Given the description of an element on the screen output the (x, y) to click on. 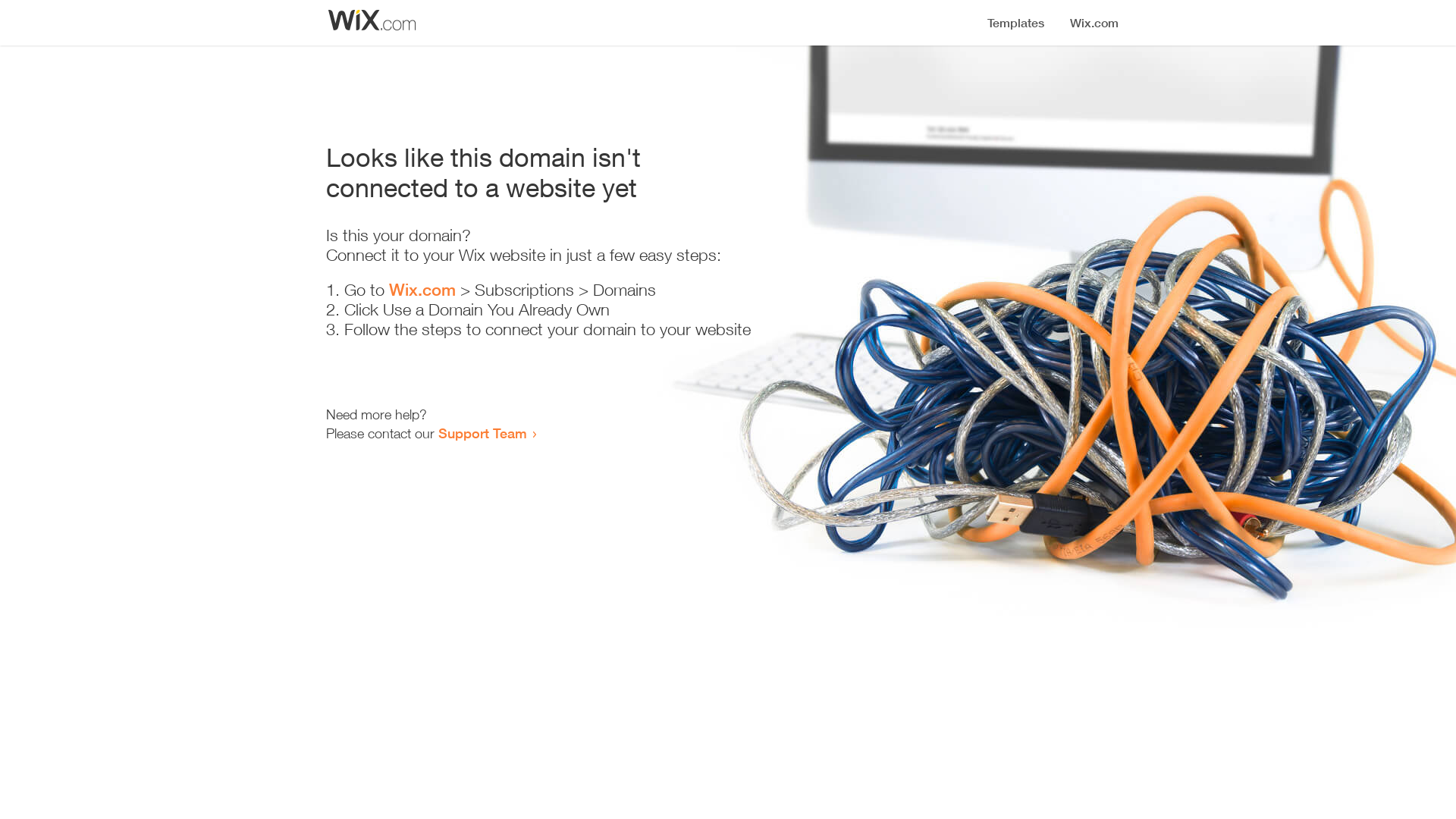
Support Team Element type: text (482, 432)
Wix.com Element type: text (422, 289)
